Given the description of an element on the screen output the (x, y) to click on. 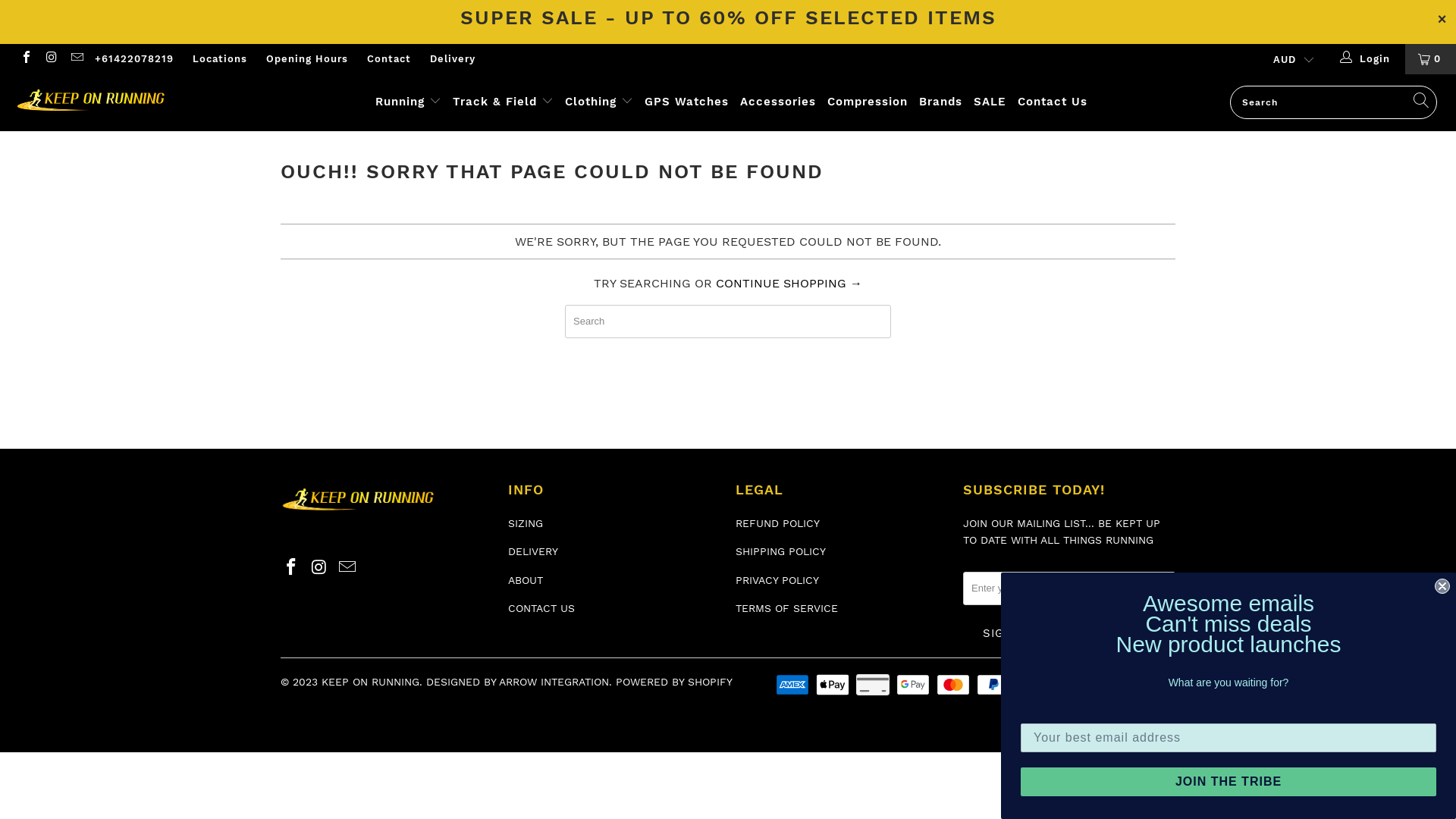
Opening Hours Element type: text (307, 58)
Delivery Element type: text (452, 58)
Login Element type: text (1365, 58)
Sign Up Element type: text (1008, 632)
KEEP ON RUNNING Element type: text (370, 681)
Keep On Running Element type: hover (123, 101)
DELIVERY Element type: text (533, 551)
JOIN THE TRIBE Element type: text (1228, 781)
Keep On Running on Facebook Element type: hover (291, 567)
Email Keep On Running Element type: hover (346, 567)
SHIPPING POLICY Element type: text (780, 551)
Clothing Element type: text (598, 102)
SIZING Element type: text (525, 523)
GPS Watches Element type: text (686, 102)
TERMS OF SERVICE Element type: text (786, 608)
Running Element type: text (408, 102)
ABOUT Element type: text (525, 580)
Email Keep On Running Element type: hover (76, 58)
CONTACT US Element type: text (541, 608)
Submit Element type: text (39, 16)
Track & Field Element type: text (502, 102)
Contact Us Element type: text (1052, 102)
Keep On Running on Instagram Element type: hover (319, 567)
SALE Element type: text (989, 102)
PRIVACY POLICY Element type: text (777, 580)
Keep On Running on Facebook Element type: hover (25, 58)
Accessories Element type: text (777, 102)
Locations Element type: text (219, 58)
POWERED BY SHOPIFY Element type: text (673, 681)
Keep On Running on Instagram Element type: hover (50, 58)
Brands Element type: text (940, 102)
DESIGNED BY ARROW INTEGRATION Element type: text (517, 681)
+61422078219 Element type: text (133, 58)
Contact Element type: text (389, 58)
Compression Element type: text (867, 102)
REFUND POLICY Element type: text (777, 523)
